Given the description of an element on the screen output the (x, y) to click on. 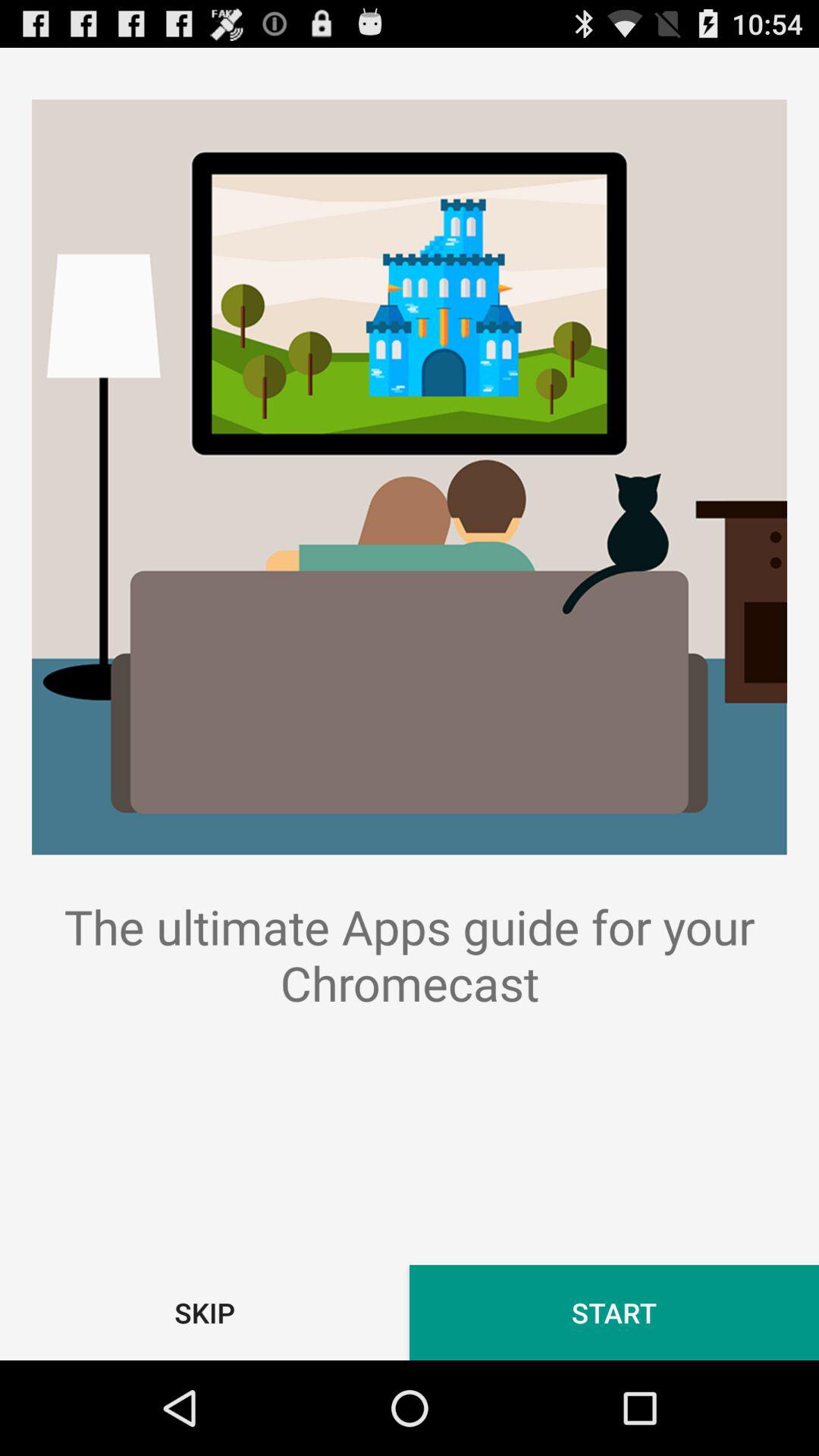
press item at the bottom left corner (204, 1312)
